Given the description of an element on the screen output the (x, y) to click on. 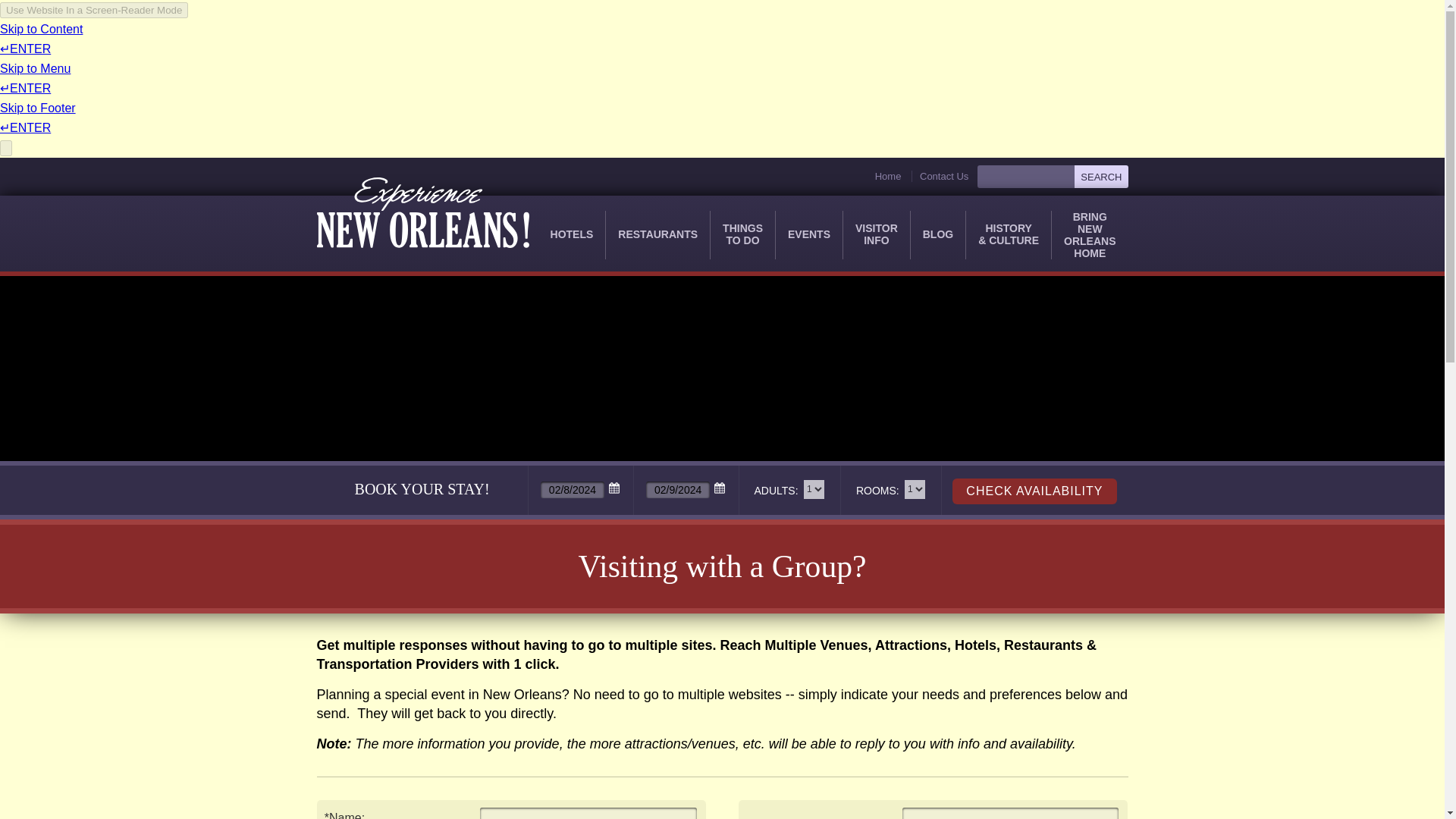
HOTELS (571, 234)
RESTAURANTS (657, 234)
EVENTS (808, 234)
Search (1100, 176)
Contact Us (939, 175)
Please leave a comment! (1010, 813)
You must enter your Name! (588, 813)
Search (742, 234)
CHECK OUT DATE (1100, 176)
